Given the description of an element on the screen output the (x, y) to click on. 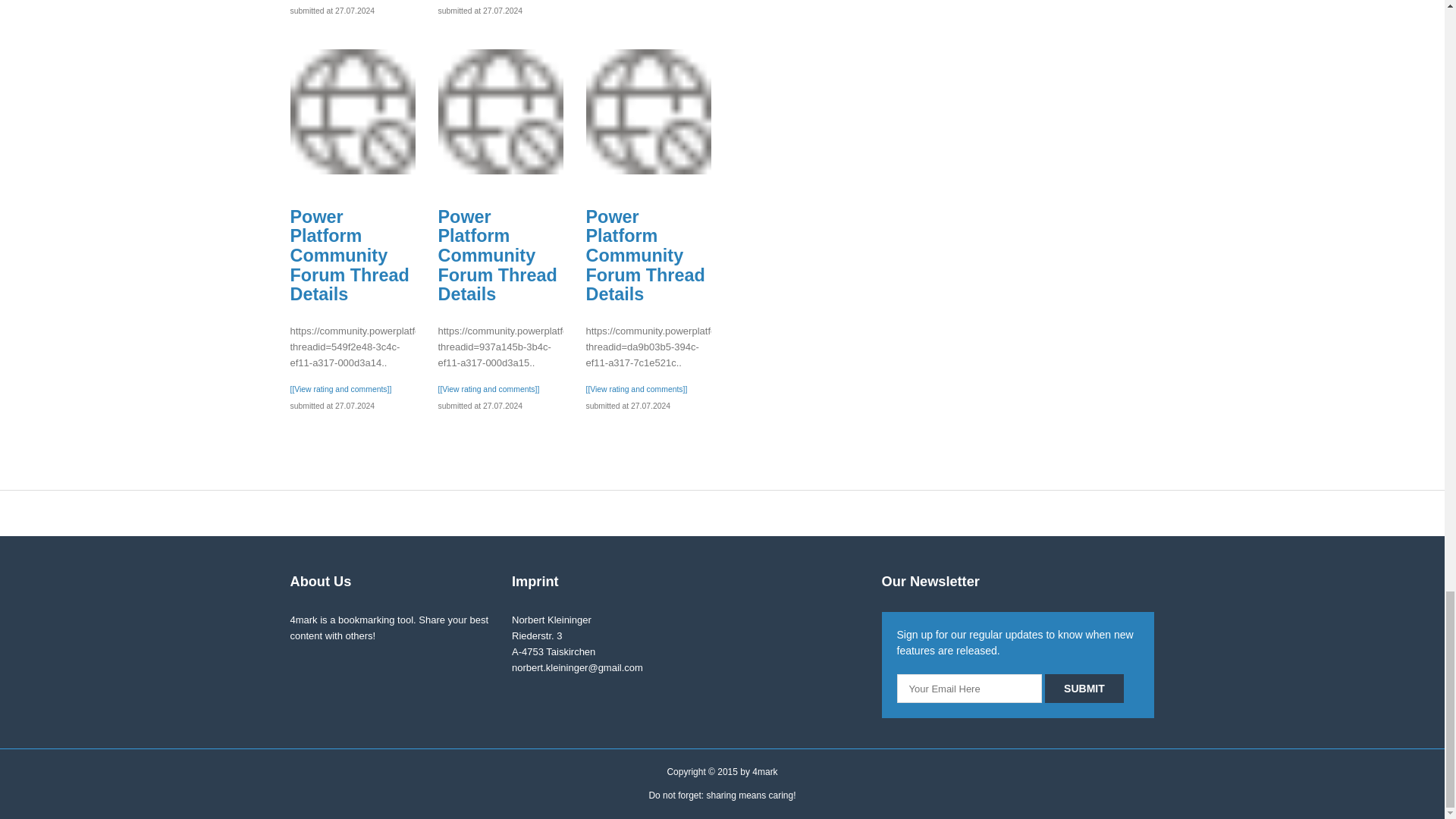
			Power Platform Community Forum Thread Details		 (500, 111)
Submit (1084, 688)
			Power Platform Community Forum Thread Details		 (647, 111)
Email (969, 688)
Power Platform Community Forum Thread Details		 (351, 111)
